Given the description of an element on the screen output the (x, y) to click on. 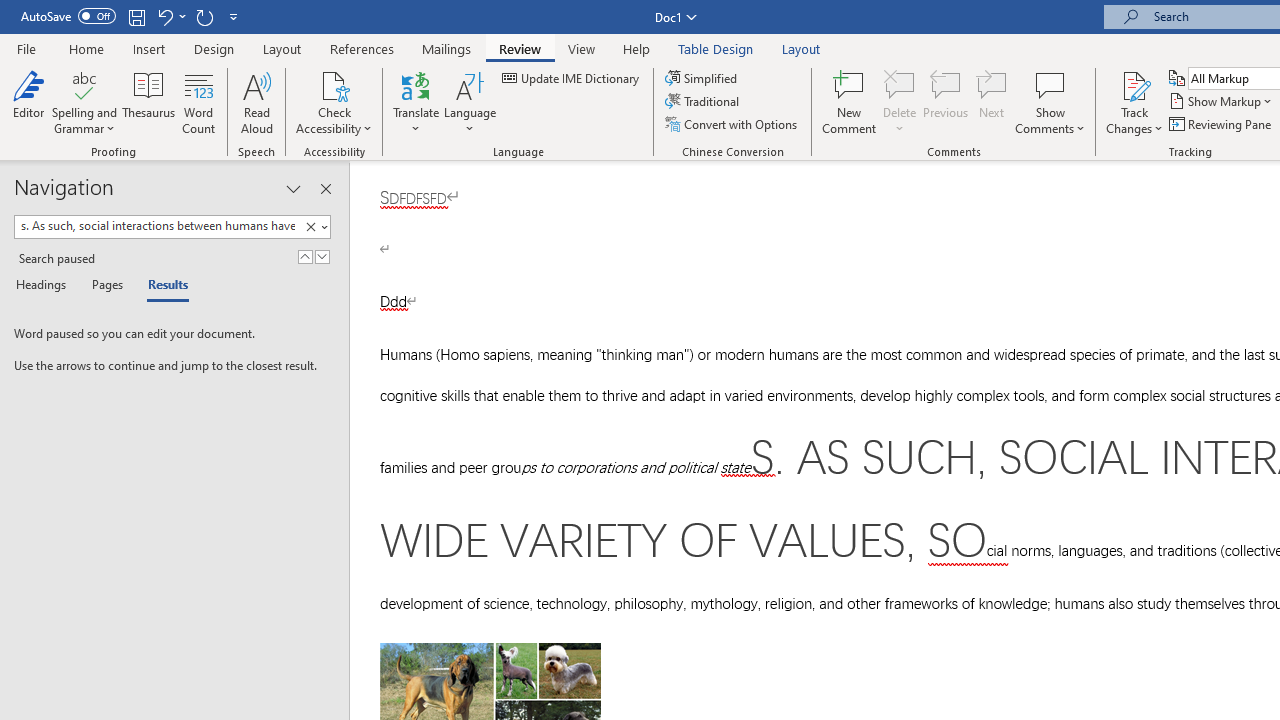
Clear (314, 227)
Track Changes (1134, 84)
Show Comments (1050, 84)
Delete (900, 102)
Next Result (322, 256)
Undo Style (164, 15)
Reviewing Pane (1221, 124)
Translate (415, 102)
Delete (900, 84)
Next (991, 102)
Language (470, 102)
